Given the description of an element on the screen output the (x, y) to click on. 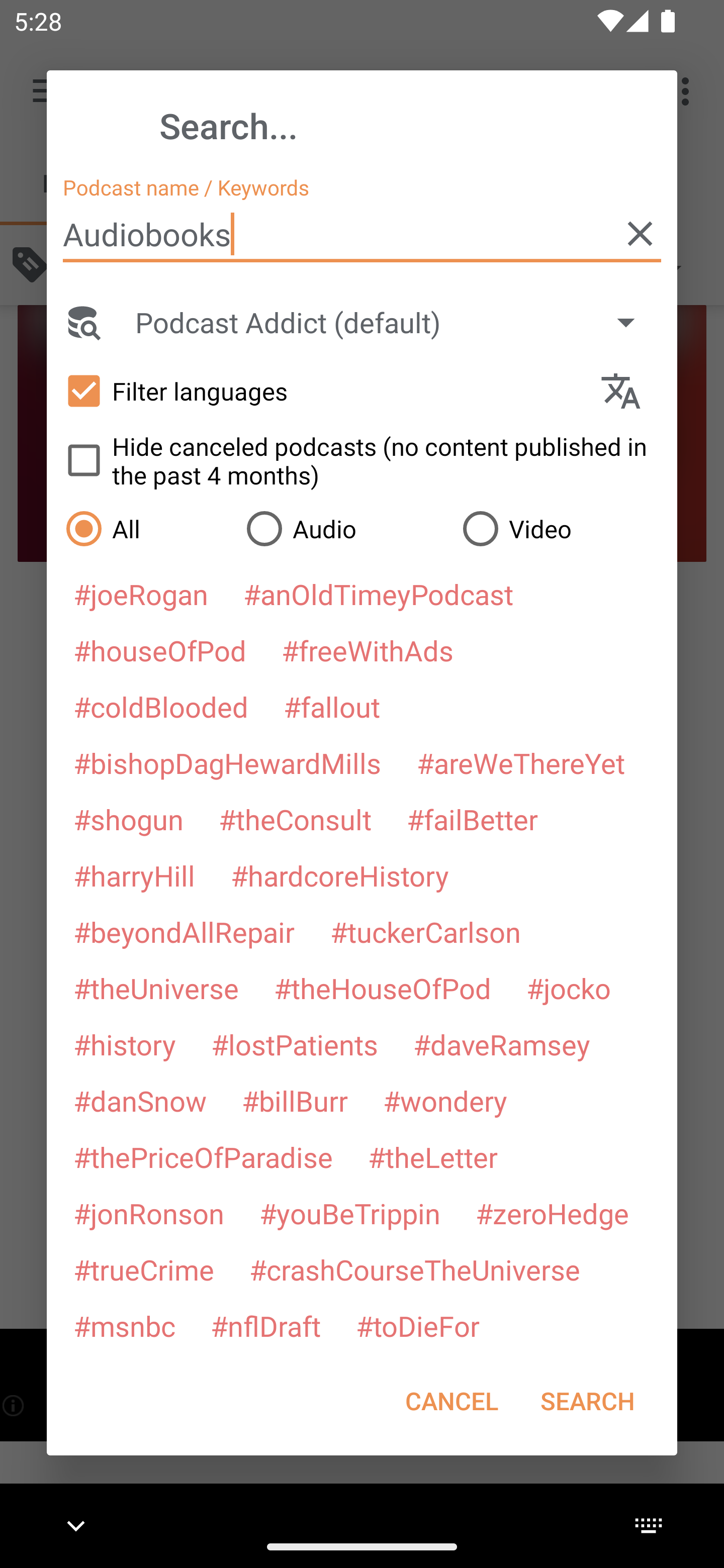
Audiobooks (361, 234)
Search Engine (82, 322)
Podcast Addict (default) (394, 322)
Languages selection (629, 390)
Filter languages (322, 390)
All (145, 528)
Audio (344, 528)
Video (560, 528)
#joeRogan (140, 594)
#anOldTimeyPodcast (378, 594)
#houseOfPod (159, 650)
#freeWithAds (367, 650)
#coldBlooded (160, 705)
#fallout (331, 705)
#bishopDagHewardMills (227, 762)
#areWeThereYet (521, 762)
#shogun (128, 818)
#theConsult (294, 818)
#failBetter (471, 818)
#harryHill (134, 875)
#hardcoreHistory (339, 875)
#beyondAllRepair (184, 931)
#tuckerCarlson (425, 931)
#theUniverse (155, 987)
#theHouseOfPod (381, 987)
#jocko (568, 987)
#history (124, 1044)
#lostPatients (294, 1044)
#daveRamsey (501, 1044)
#danSnow (139, 1100)
#billBurr (294, 1100)
#wondery (444, 1100)
#thePriceOfParadise (203, 1157)
#theLetter (432, 1157)
#jonRonson (148, 1213)
#youBeTrippin (349, 1213)
#zeroHedge (552, 1213)
#trueCrime (143, 1268)
#crashCourseTheUniverse (414, 1268)
#msnbc (124, 1325)
#nflDraft (265, 1325)
#toDieFor (417, 1325)
CANCEL (451, 1400)
SEARCH (587, 1400)
